Given the description of an element on the screen output the (x, y) to click on. 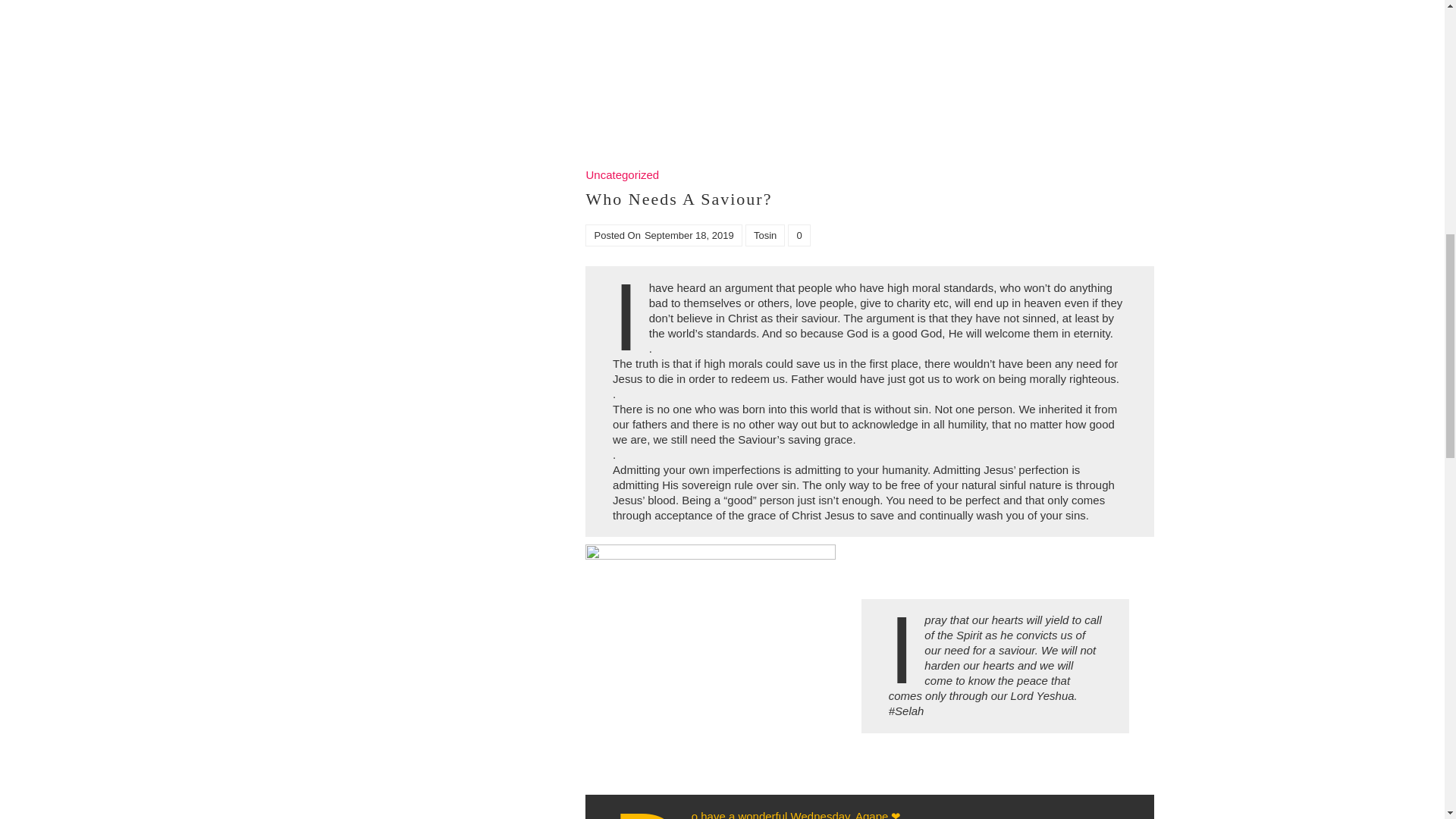
Uncategorized (622, 174)
September 18, 2019 (689, 235)
Tosin (765, 235)
